Given the description of an element on the screen output the (x, y) to click on. 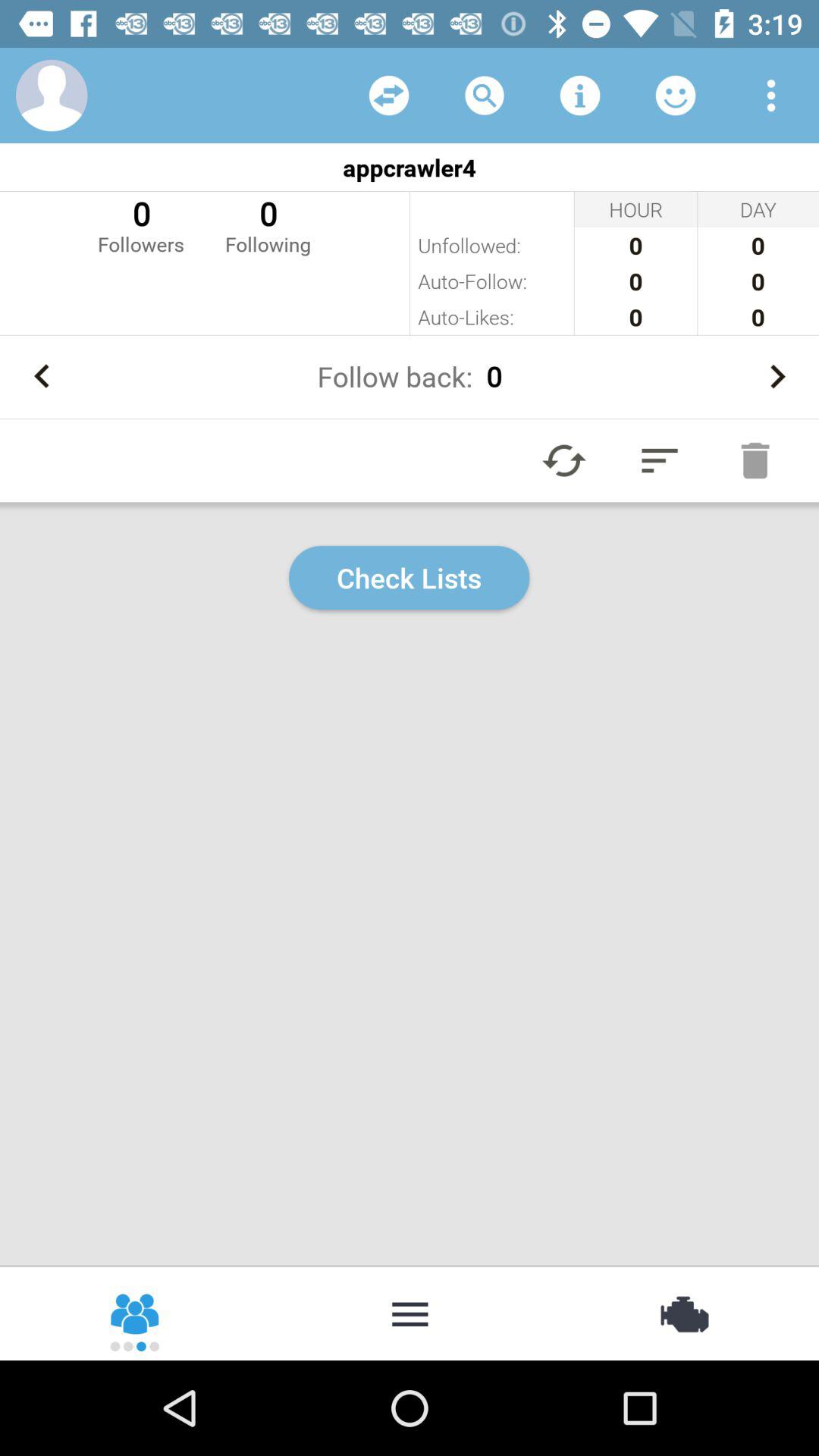
turn off item below the appcrawler4 icon (140, 224)
